Given the description of an element on the screen output the (x, y) to click on. 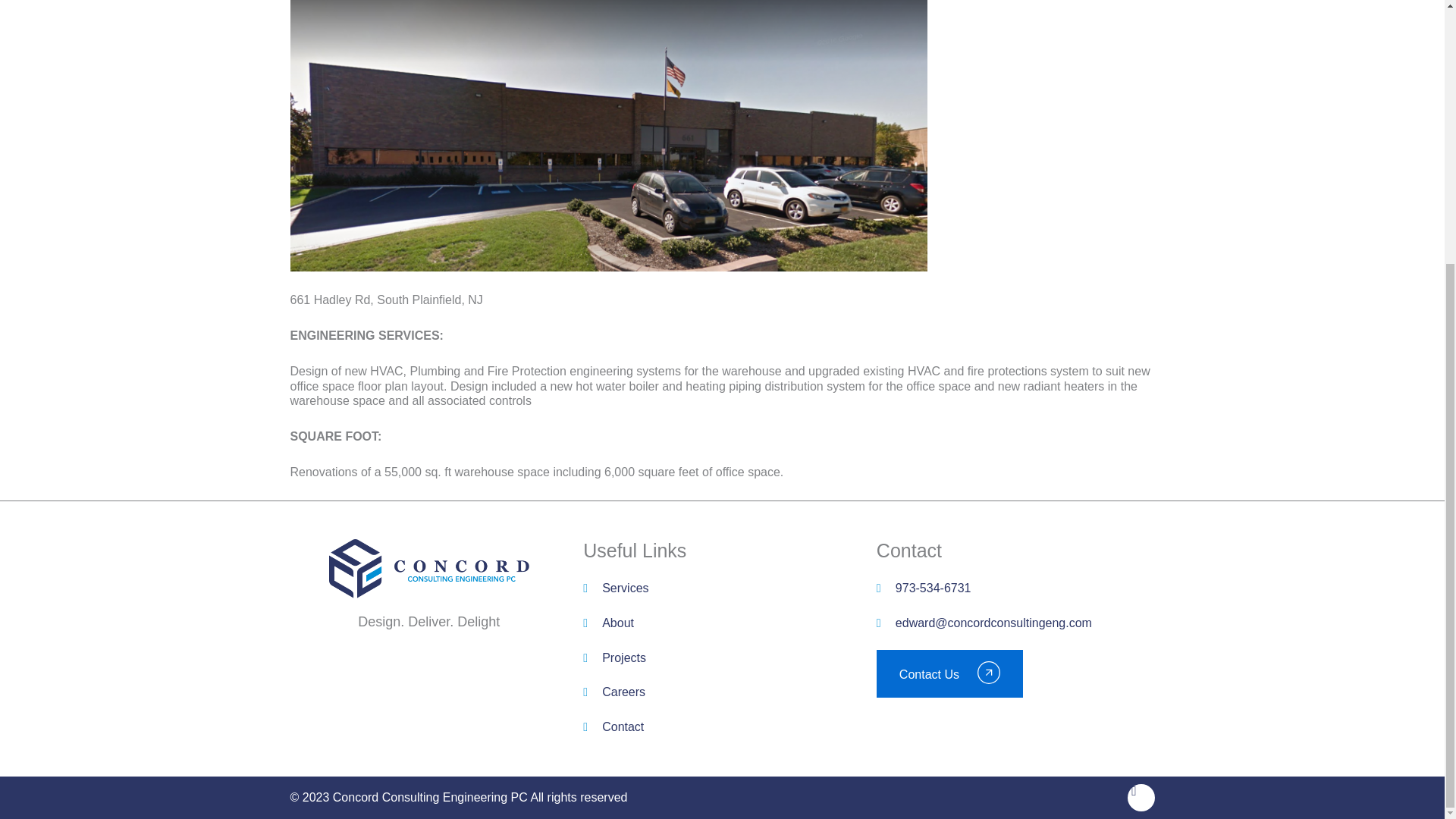
Careers (722, 691)
Contact Us (949, 673)
973-534-6731 (1015, 588)
Linkedin (1140, 797)
Projects (722, 658)
About (722, 622)
Services (722, 588)
Contact (722, 726)
